Given the description of an element on the screen output the (x, y) to click on. 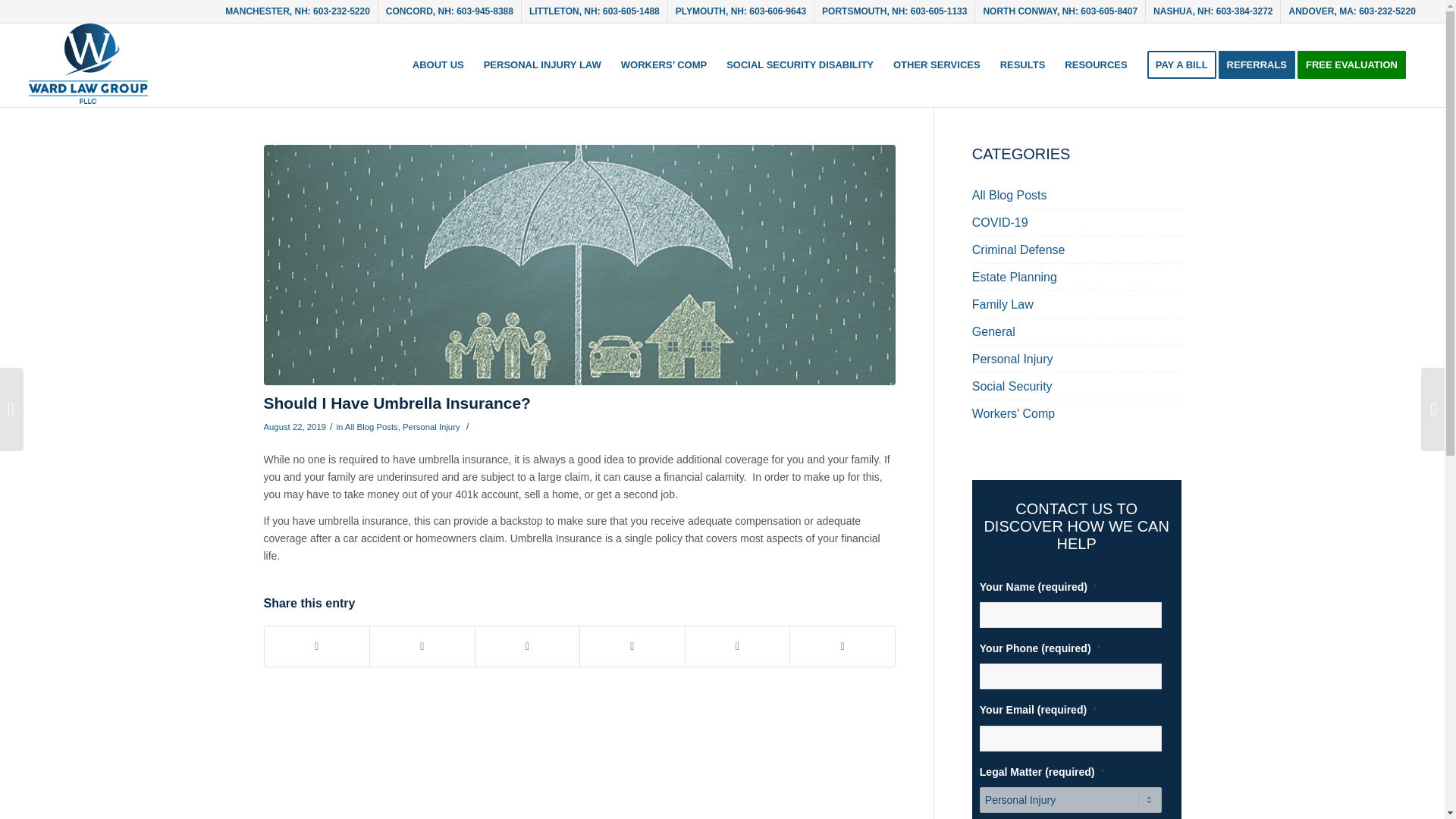
ANDOVER, MA: 603-232-5220 (1351, 11)
PORTSMOUTH, NH: 603-605-1133 (894, 11)
LITTLETON, NH: 603-605-1488 (594, 11)
OTHER SERVICES (936, 65)
NORTH CONWAY, NH: 603-605-8407 (1059, 11)
CONCORD, NH: 603-945-8388 (449, 11)
PLYMOUTH, NH: 603-606-9643 (740, 11)
SOCIAL SECURITY DISABILITY (799, 65)
NASHUA, NH: 603-384-3272 (1212, 11)
